Given the description of an element on the screen output the (x, y) to click on. 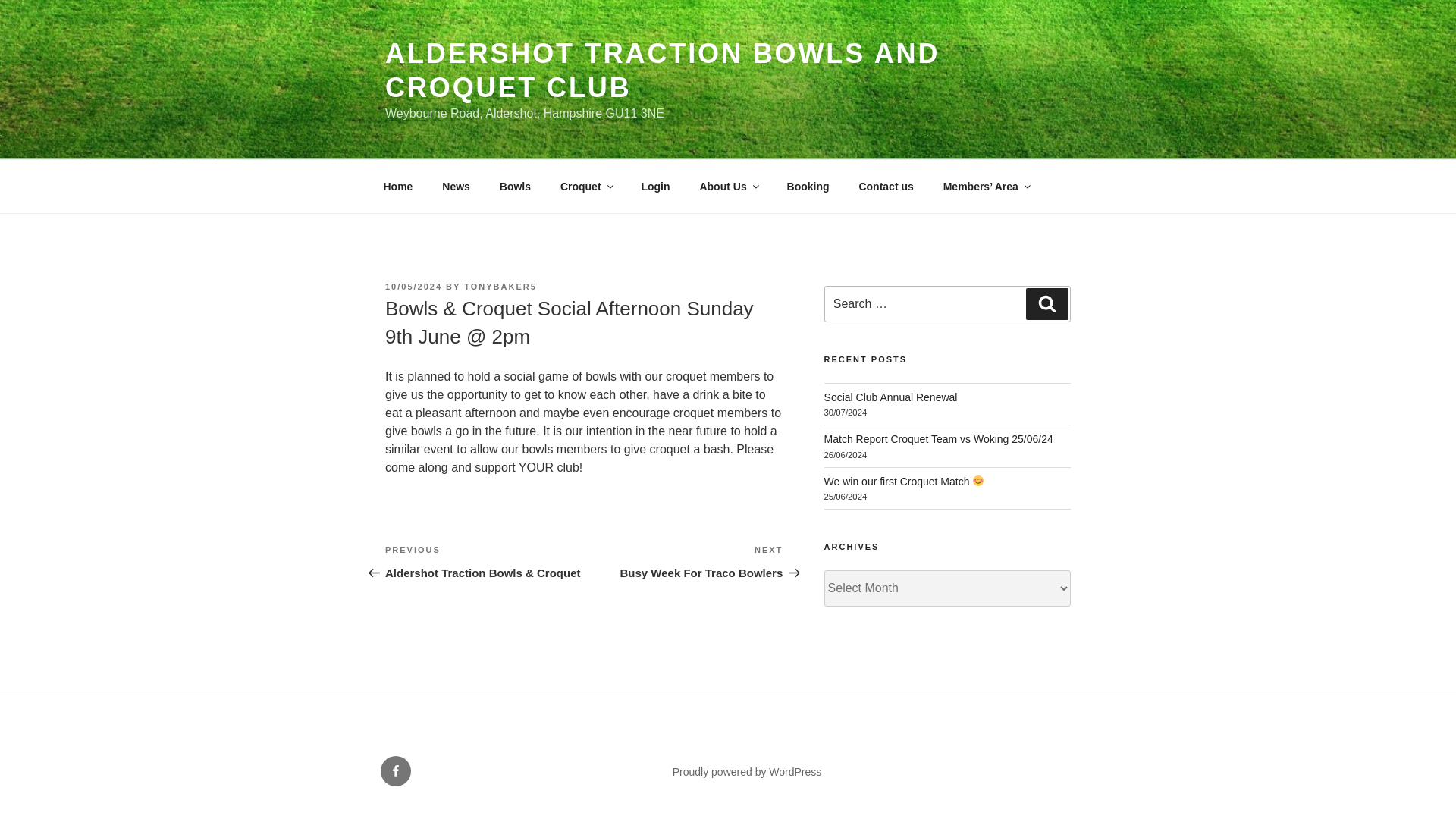
Croquet (585, 186)
About Us (727, 186)
Social Club Annual Renewal (891, 397)
ALDERSHOT TRACTION BOWLS AND CROQUET CLUB (683, 561)
Home (662, 70)
Bowls (397, 186)
Proudly powered by WordPress (514, 186)
We win our first Croquet Match (747, 771)
TONYBAKER5 (904, 481)
